Given the description of an element on the screen output the (x, y) to click on. 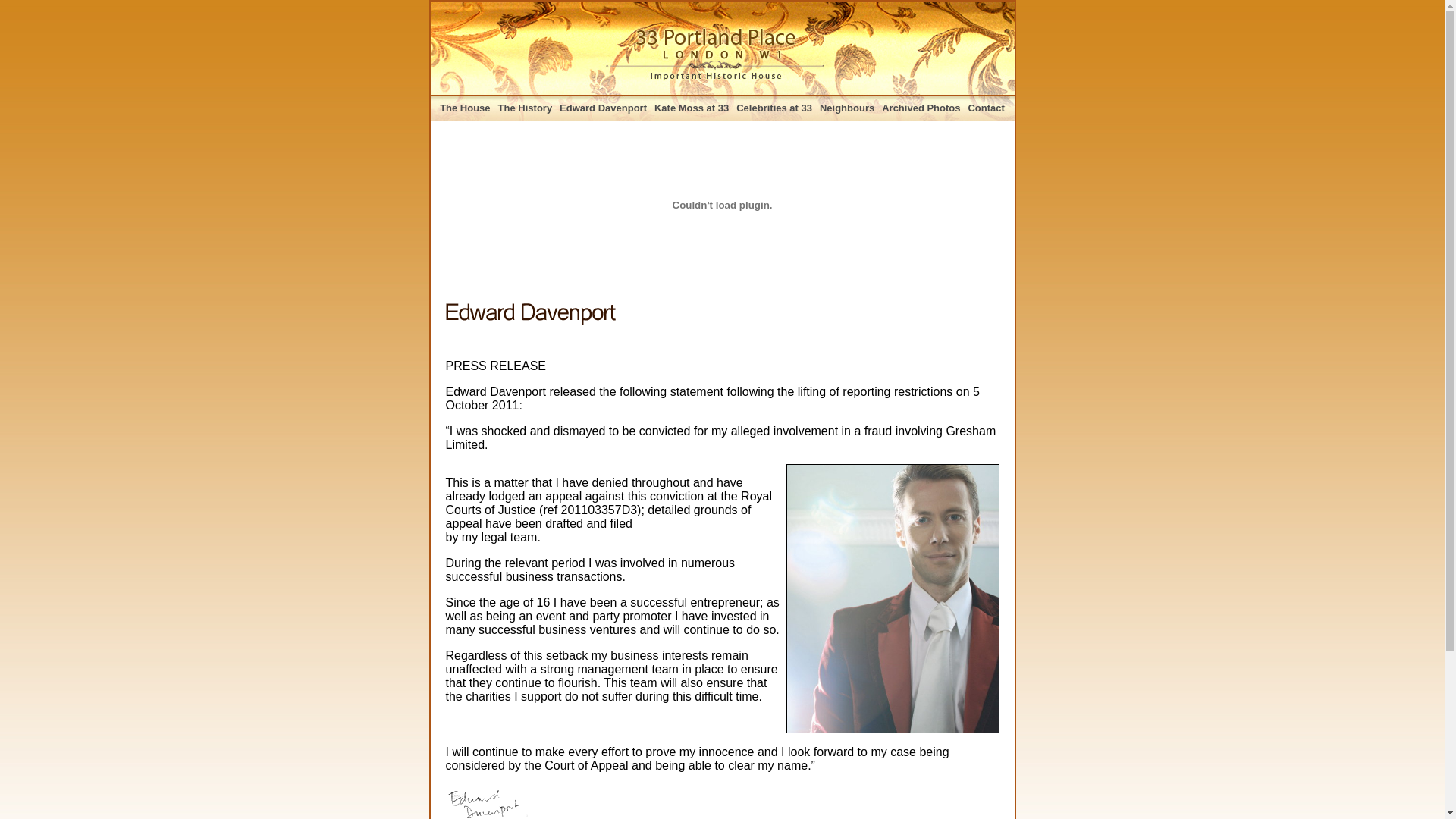
Celebrities at 33 Element type: text (774, 107)
Archived Photos Element type: text (920, 107)
Neighbours Element type: text (846, 107)
The History Element type: text (525, 107)
Kate Moss at 33 Element type: text (691, 107)
Edward Davenport Element type: text (602, 107)
Contact Element type: text (985, 107)
The House Element type: text (464, 107)
